Given the description of an element on the screen output the (x, y) to click on. 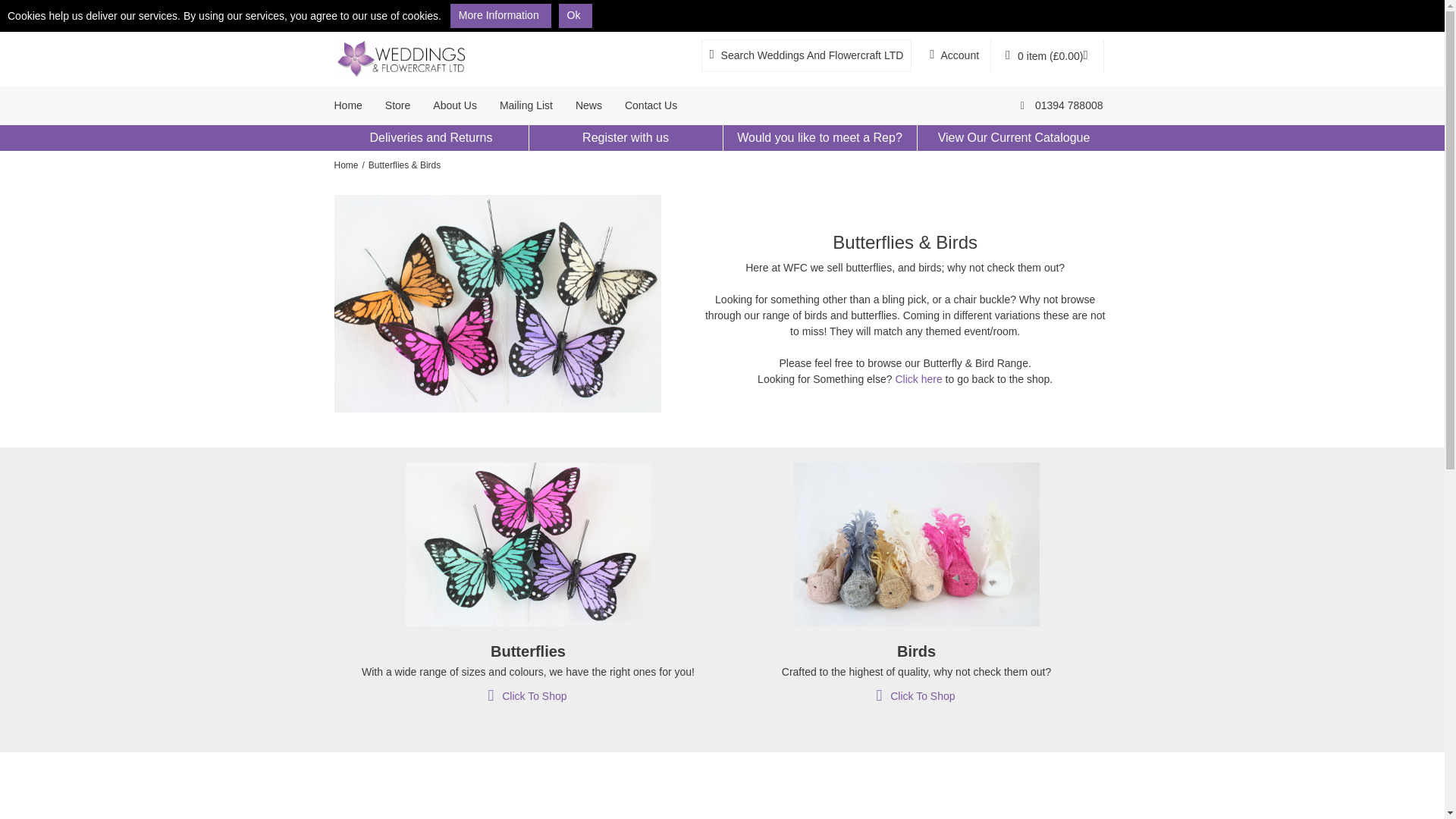
Click To Shop (526, 696)
Store (398, 105)
Click here (918, 379)
News (588, 105)
Click To Shop (915, 696)
Deliveries and Returns (431, 137)
Search Weddings And Flowercraft LTD (806, 55)
Register with us (625, 137)
Weddings And Flowercraft LTD (1061, 105)
Account (954, 55)
